Given the description of an element on the screen output the (x, y) to click on. 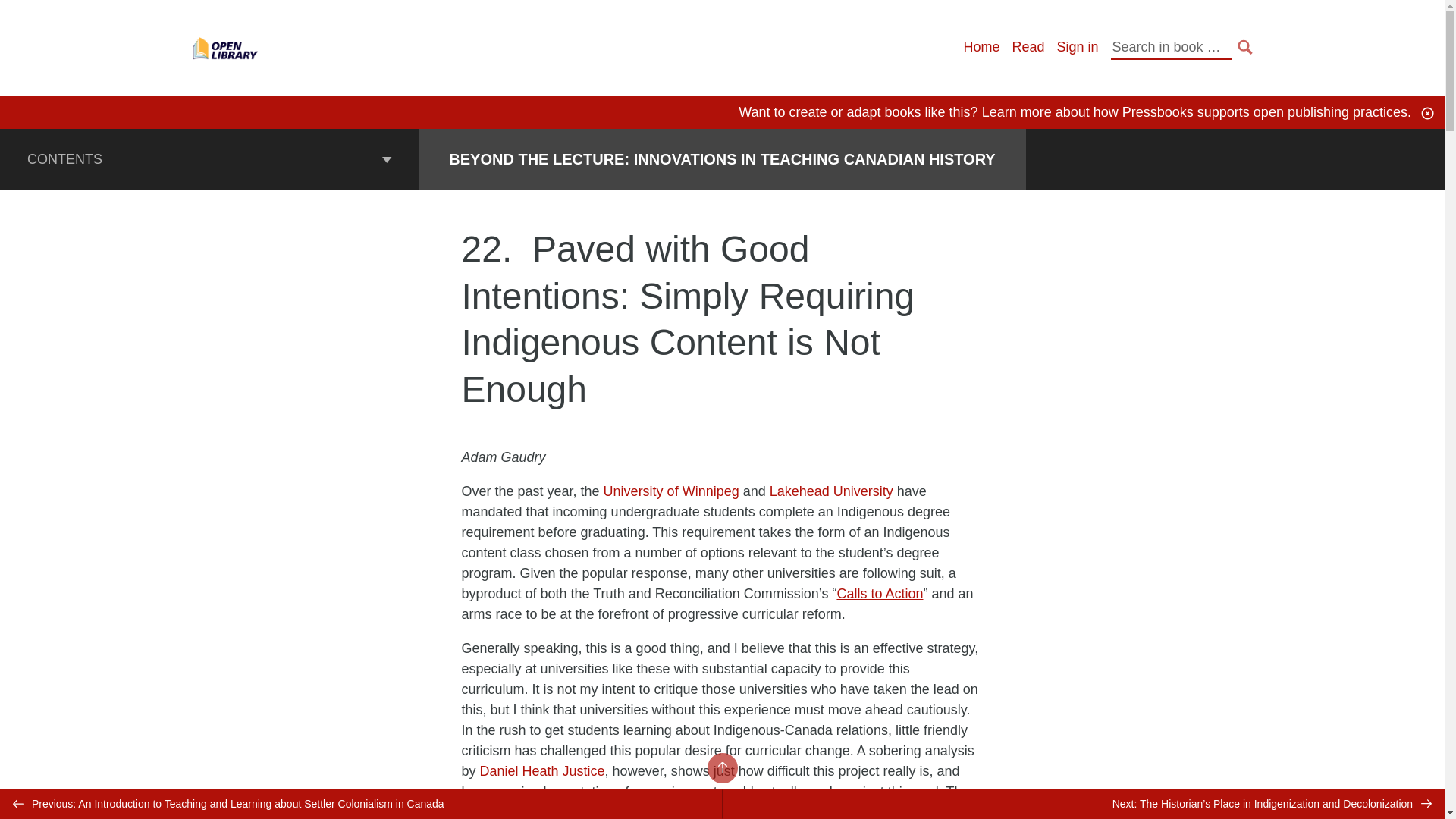
Calls to Action (879, 593)
Lakehead University (831, 491)
Read (1027, 46)
Learn more (1016, 111)
University of Winnipeg (671, 491)
Daniel Heath Justice (542, 770)
Sign in (1077, 46)
BEYOND THE LECTURE: INNOVATIONS IN TEACHING CANADIAN HISTORY (721, 159)
BACK TO TOP (721, 767)
CONTENTS (209, 158)
Home (980, 46)
